Given the description of an element on the screen output the (x, y) to click on. 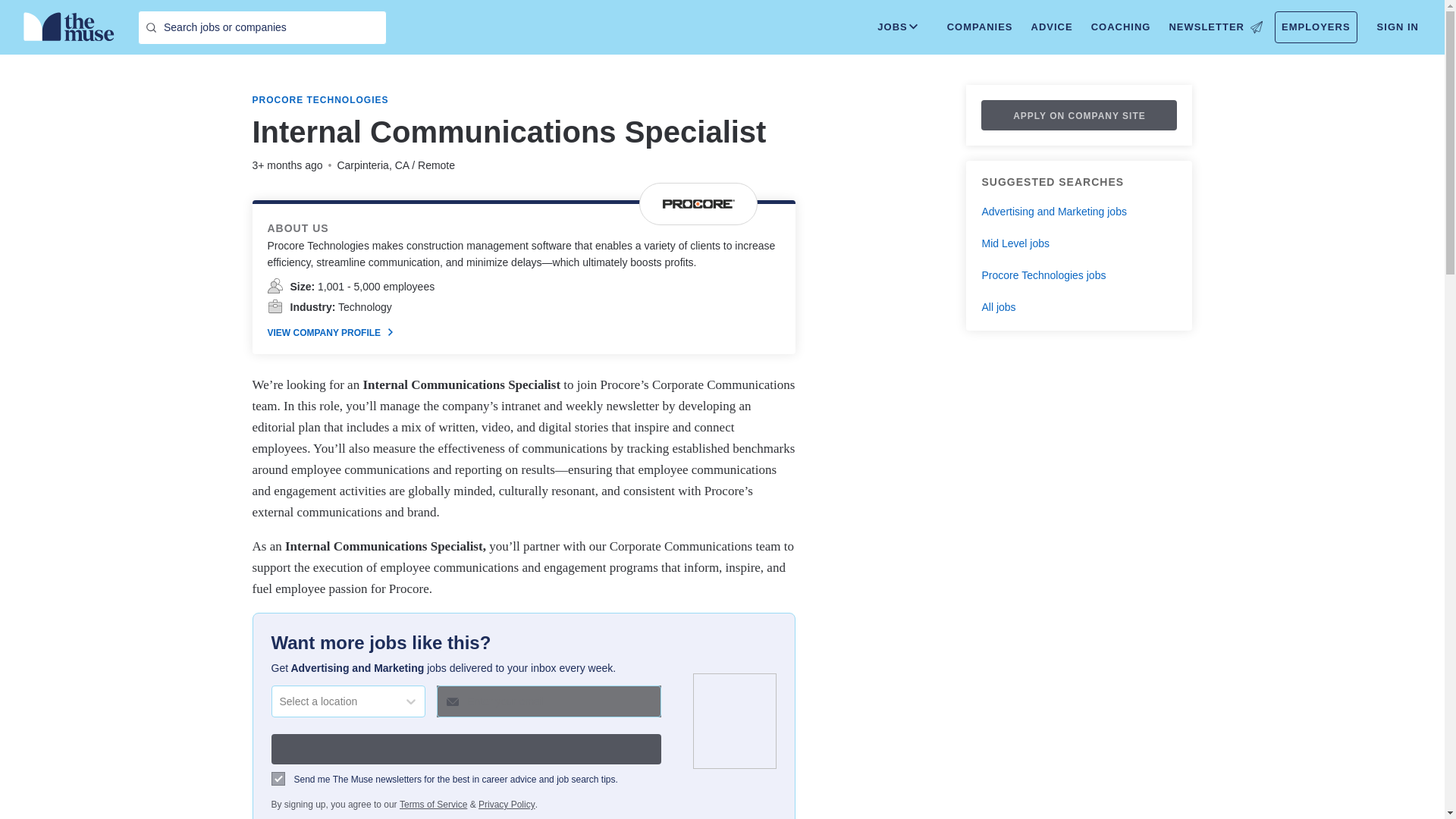
ADVICE (1051, 27)
COMPANIES (979, 27)
SIGN IN (1398, 27)
GET JOBS (465, 748)
Terms of Service (432, 804)
EMPLOYERS (1315, 27)
COACHING (1120, 27)
VIEW COMPANY PROFILE (329, 332)
NEWSLETTER (1214, 27)
PROCORE TECHNOLOGIES (319, 100)
